Given the description of an element on the screen output the (x, y) to click on. 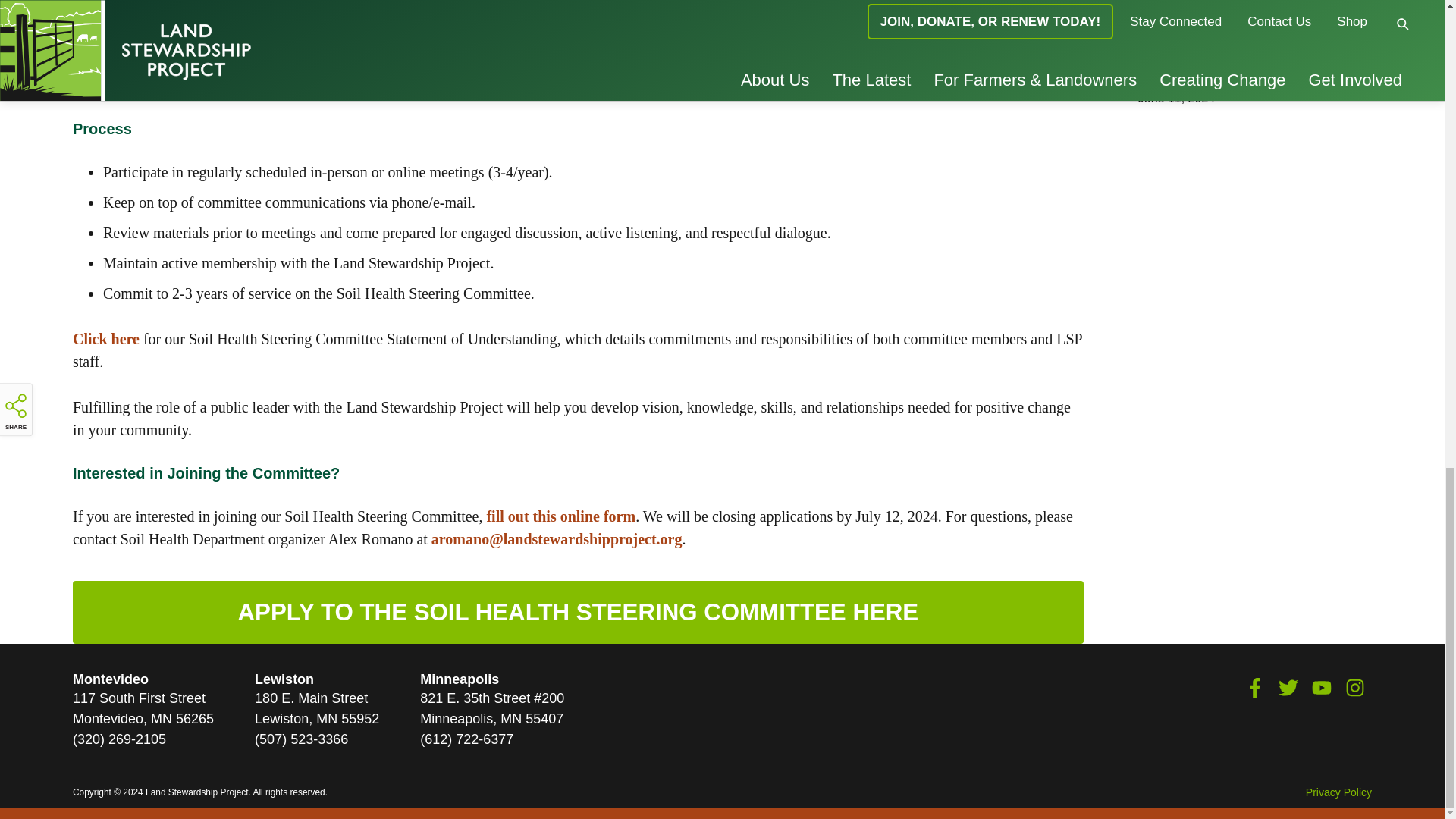
Facebook (1255, 687)
Twitter (1287, 687)
YouTube (1321, 687)
Instagram (1354, 687)
